Given the description of an element on the screen output the (x, y) to click on. 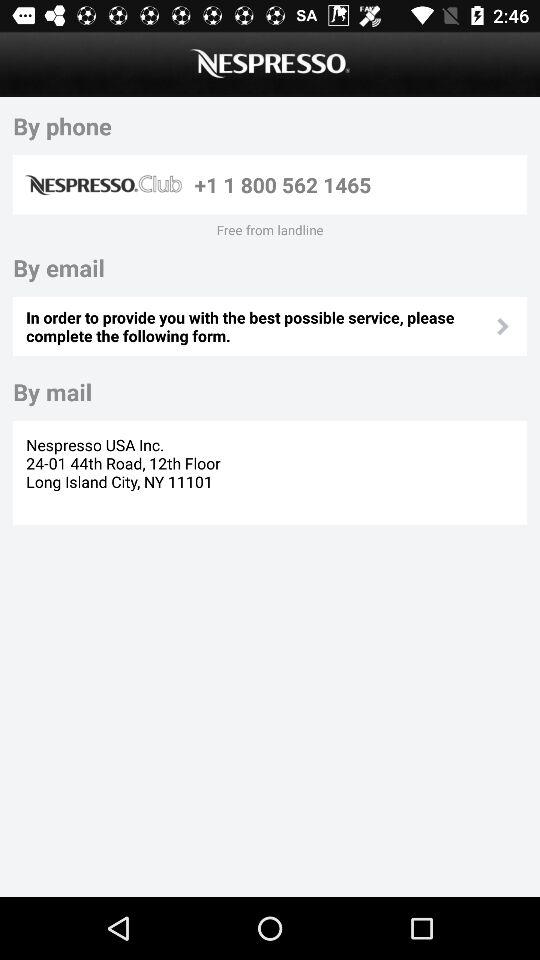
select icon at the center (259, 326)
